Given the description of an element on the screen output the (x, y) to click on. 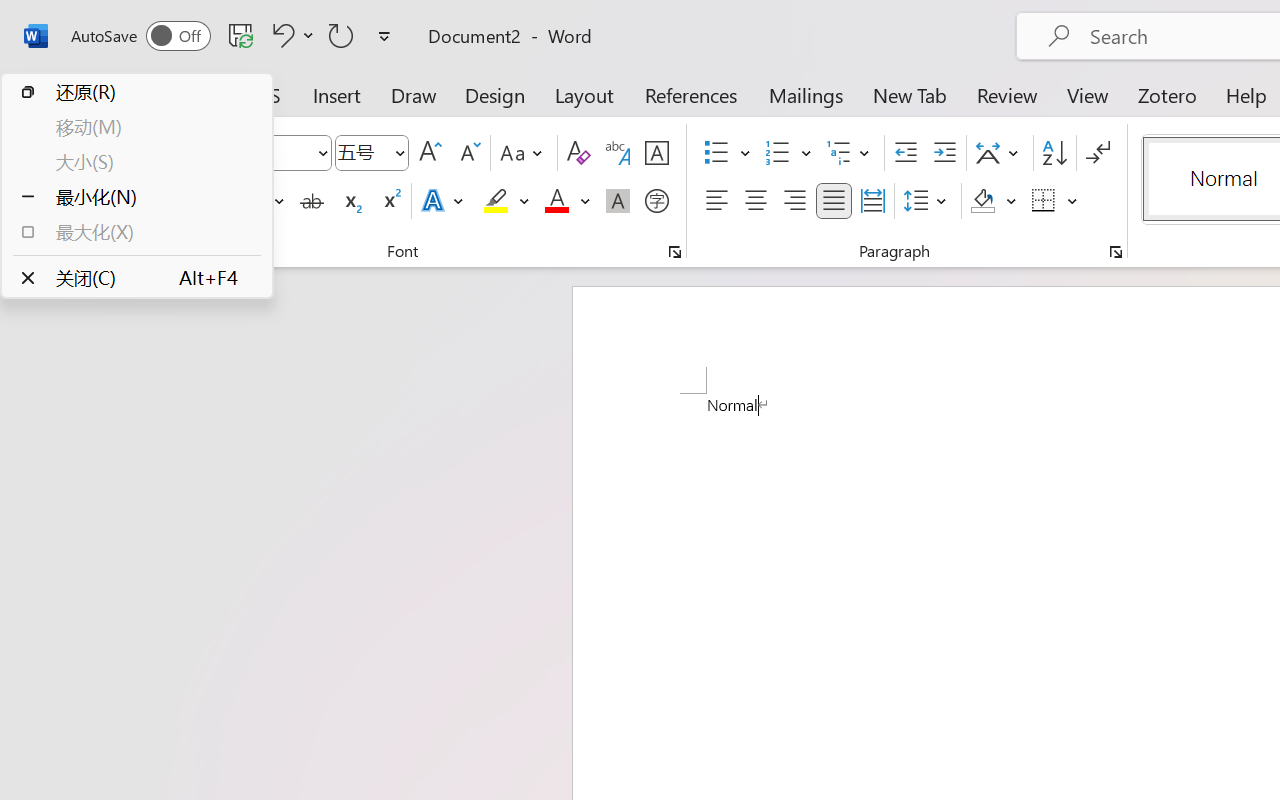
Distributed (872, 201)
Shading RGB(0, 0, 0) (982, 201)
Justify (834, 201)
Mailings (806, 94)
Customize Quick Access Toolbar (384, 35)
Underline (250, 201)
Multilevel List (850, 153)
Review (1007, 94)
Font (234, 152)
Draw (413, 94)
More Options (1073, 201)
Grow Font (430, 153)
Bullets (727, 153)
Borders (1055, 201)
